Given the description of an element on the screen output the (x, y) to click on. 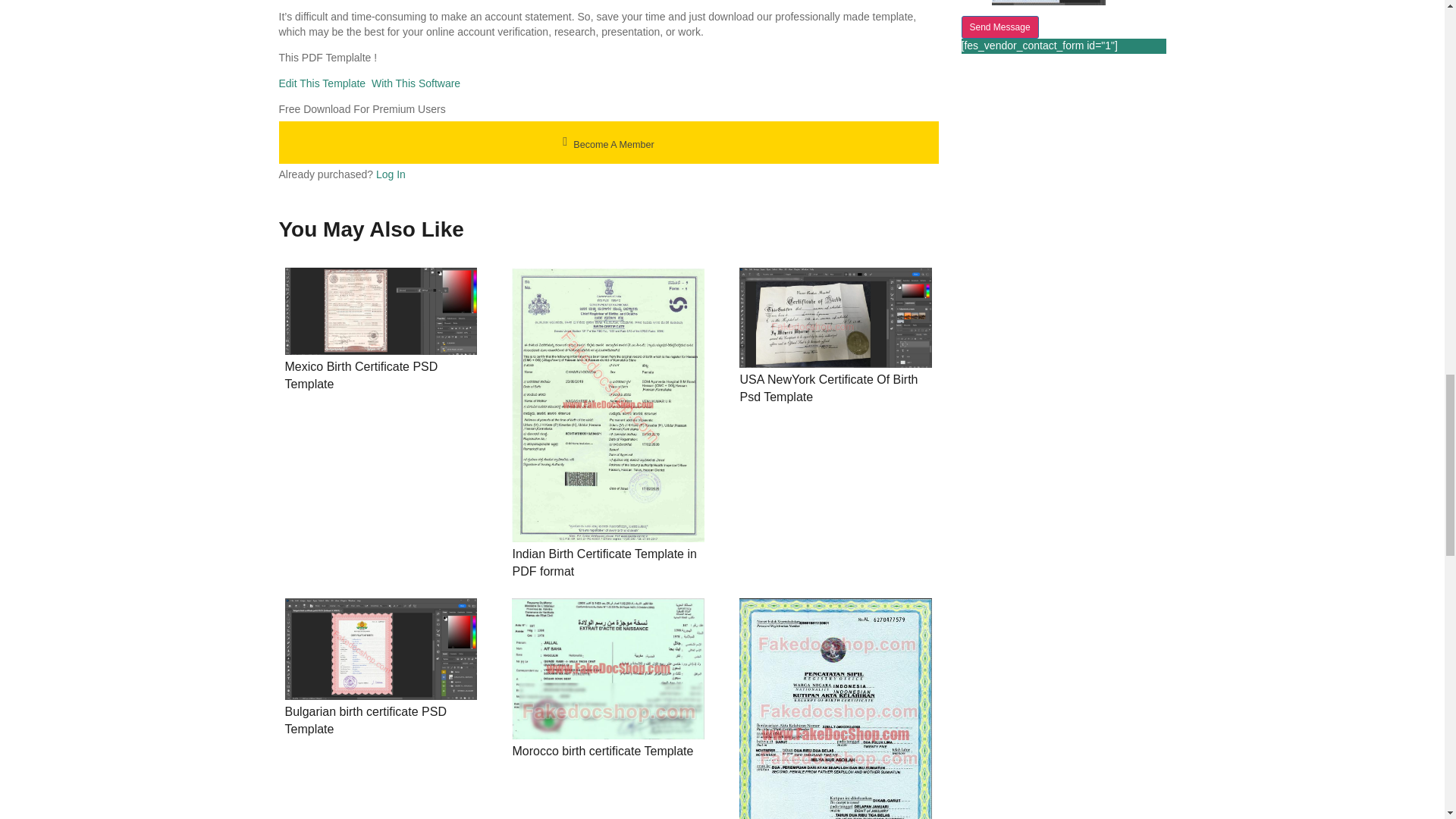
Philippines birth certificate template 2 (381, 310)
Philippines birth certificate template 4 (835, 316)
Philippines birth certificate template 5 (381, 649)
